Given the description of an element on the screen output the (x, y) to click on. 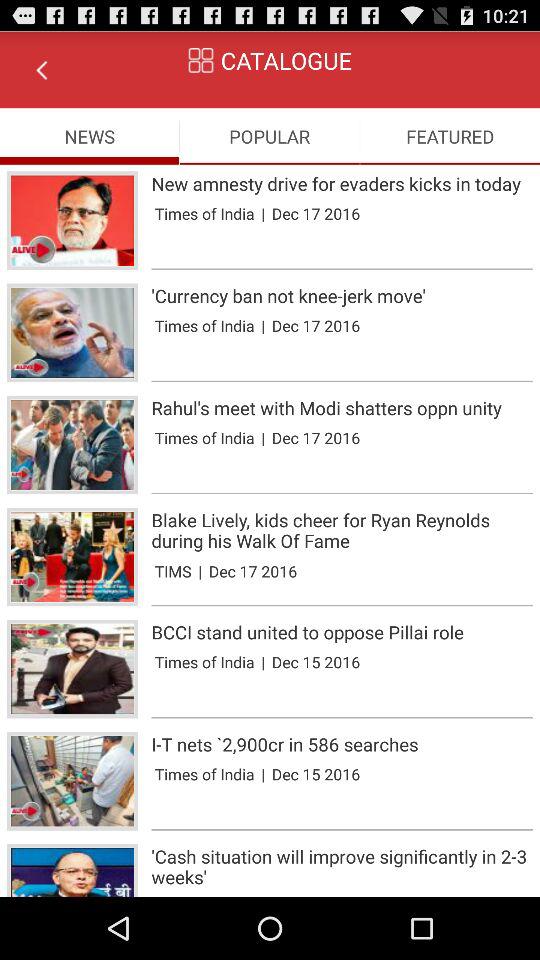
press the item below bcci stand united (263, 661)
